Given the description of an element on the screen output the (x, y) to click on. 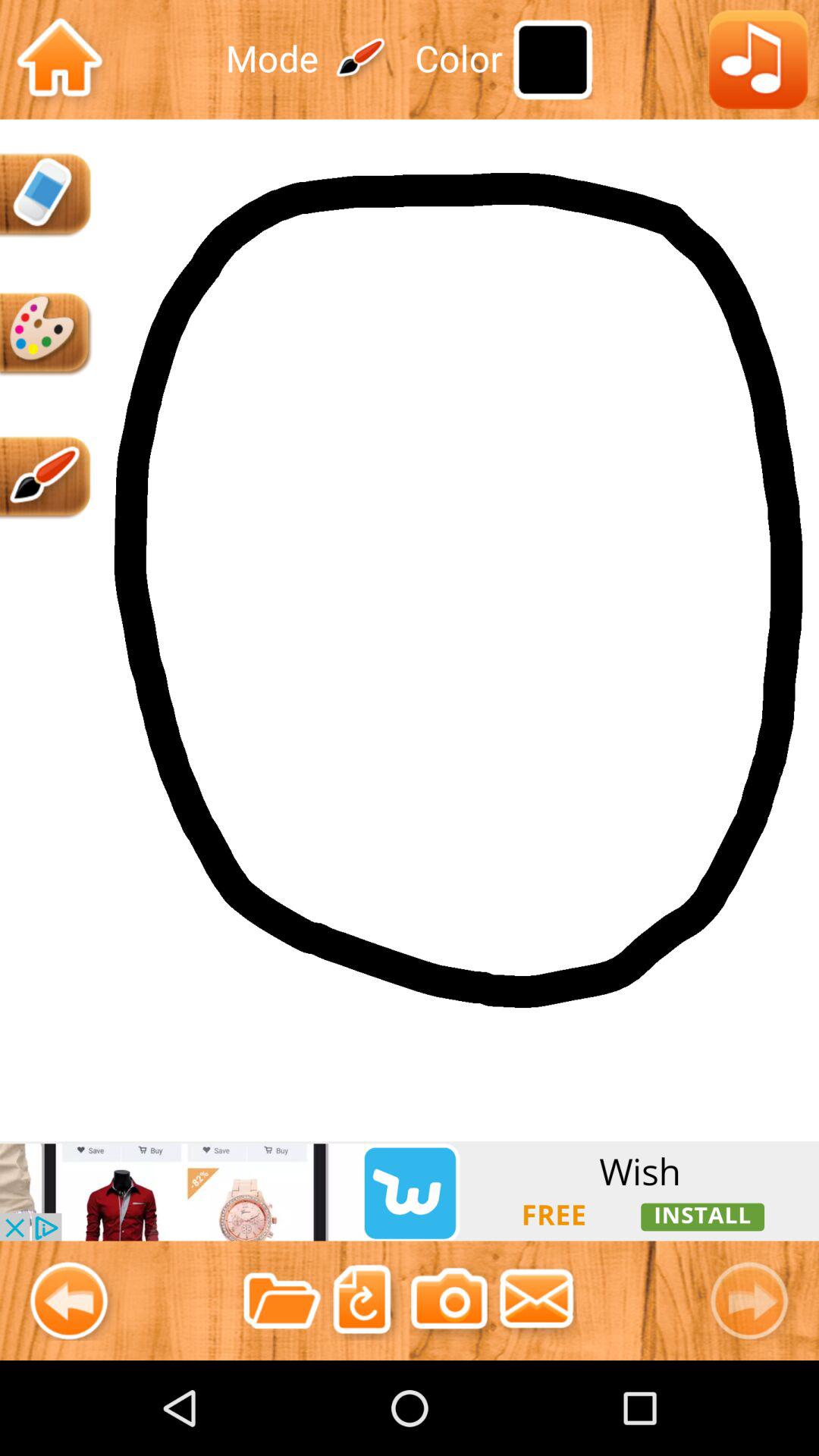
move forward (755, 1300)
